Given the description of an element on the screen output the (x, y) to click on. 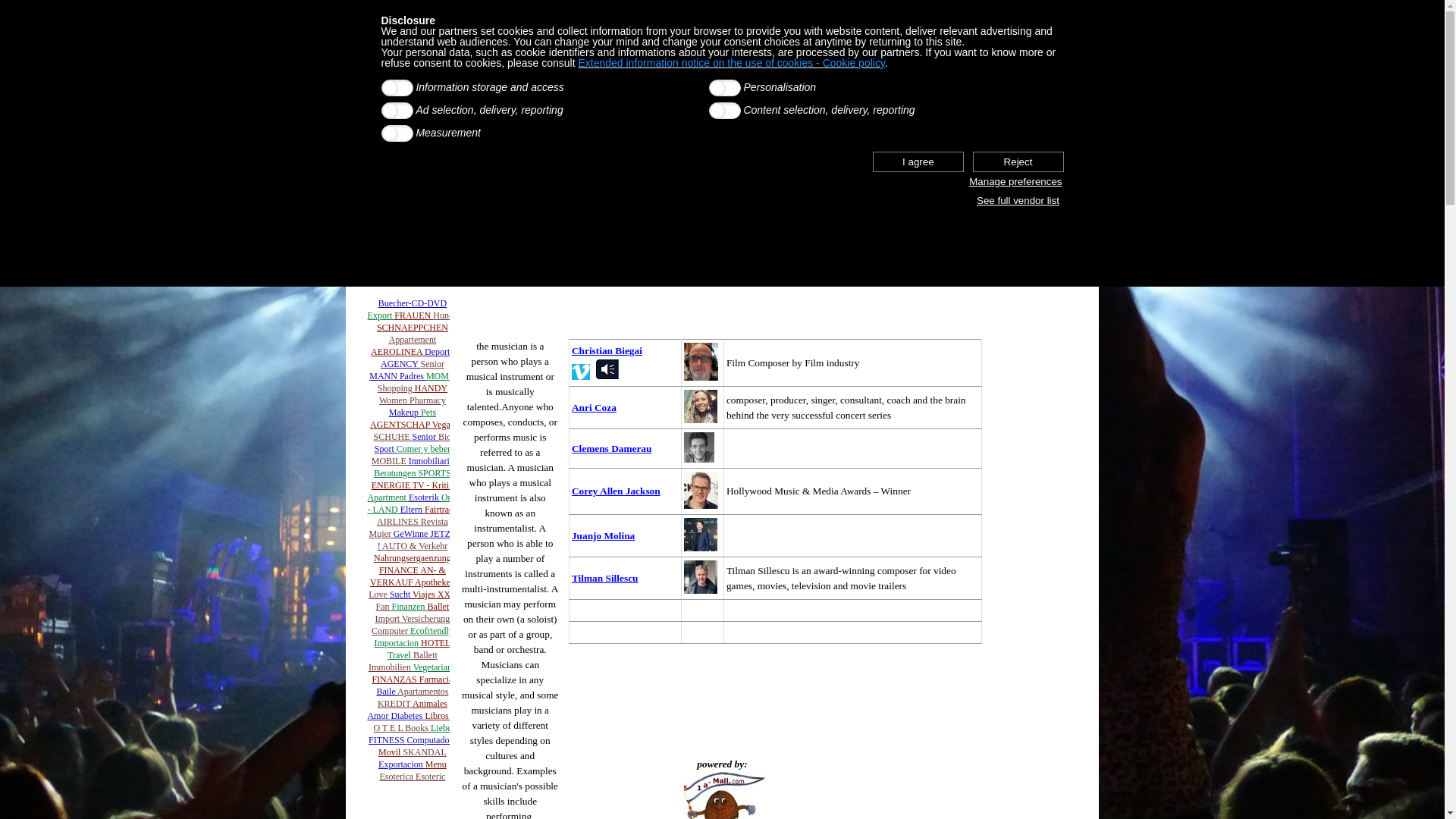
Vegan Element type: text (443, 424)
Menu Element type: text (435, 764)
Books Element type: text (417, 727)
AGENCY Element type: text (400, 363)
Advertisement Element type: hover (721, 307)
Padres Element type: text (412, 375)
Tilman Sillescu Element type: text (604, 577)
Makeup Element type: text (404, 412)
Computadora Element type: text (430, 739)
Revista Mujer Element type: text (408, 527)
Pharmacy Element type: text (427, 400)
AUTO & Verkehr Element type: text (414, 545)
Apotheken Element type: text (434, 582)
GeWinne JETZT ! Element type: text (416, 539)
Fairtrade Element type: text (440, 509)
KREDIT Element type: text (394, 703)
XXL Element type: text (446, 594)
Export Element type: text (381, 315)
Comer y beber Element type: text (423, 448)
AN- & VERKAUF Element type: text (407, 575)
Juanjo Molina Element type: text (602, 535)
Shopping Element type: text (395, 387)
SKANDAL Element type: text (423, 751)
Corey Allen Jackson Element type: text (615, 490)
Ballet Element type: text (438, 606)
See full vendor list Element type: text (1017, 200)
FINANCE Element type: text (399, 569)
Computer Element type: text (390, 630)
SCHUHE Element type: text (392, 436)
Esoteric Element type: text (430, 776)
Nahrungsergaenzung Element type: text (412, 557)
Amor Element type: text (378, 715)
SPORTS Element type: text (433, 472)
Import Element type: text (388, 618)
Reject Element type: text (1017, 161)
Hunde Element type: text (445, 315)
Apartment Element type: text (387, 497)
Libros Element type: text (437, 715)
Eltern Element type: text (412, 509)
FITNESS Element type: text (387, 739)
Bio Element type: text (444, 436)
FRAUEN Element type: text (413, 315)
MANN Element type: text (384, 375)
Beratungen Element type: text (395, 472)
Diabetes Element type: text (407, 715)
Exportacion Element type: text (401, 764)
Anri Coza Element type: text (593, 407)
Sucht Element type: text (400, 594)
Christian Biegai Element type: text (606, 350)
Immobilien Element type: text (390, 667)
Advertisement Element type: hover (1036, 512)
AIRLINES Element type: text (398, 521)
ENERGIE Element type: text (391, 485)
Ballett Element type: text (425, 654)
AEROLINEA Element type: text (397, 351)
Menue Element type: text (403, 255)
Finanzen Element type: text (409, 606)
Farmacia Element type: text (436, 679)
Sport Element type: text (385, 448)
Baile Element type: text (386, 691)
SCHNAEPPCHEN Element type: text (412, 327)
HOTEL Element type: text (435, 642)
Liebe Element type: text (440, 727)
HANDY Element type: text (430, 387)
Women Element type: text (394, 400)
Senior Element type: text (432, 363)
Importacion Element type: text (396, 642)
Deporte Element type: text (439, 351)
H O T E L Element type: text (415, 721)
Movil Element type: text (390, 751)
MOBILE Element type: text (389, 460)
Ecofriendly Element type: text (431, 630)
Viajes Element type: text (424, 594)
AGENTSCHAP Element type: text (401, 424)
Apartamentos Element type: text (422, 691)
Love Element type: text (378, 594)
Manage preferences Element type: text (1015, 181)
Esoterik Element type: text (424, 497)
Vegetariano Element type: text (434, 667)
Fan Element type: text (384, 606)
Versicherung Element type: text (425, 618)
Inmobiliaria Element type: text (430, 460)
Pets Element type: text (428, 412)
Orte - LAND Element type: text (412, 503)
Senior Element type: text (425, 436)
Appartement Element type: text (412, 339)
FINANZAS Element type: text (394, 679)
Clemens Damerau Element type: text (611, 448)
TV - Kritik Element type: text (432, 485)
I agree Element type: text (917, 161)
Buecher-CD-DVD Element type: text (412, 303)
Animales Element type: text (429, 703)
Travel Element type: text (400, 654)
Esoterica Element type: text (397, 776)
